Given the description of an element on the screen output the (x, y) to click on. 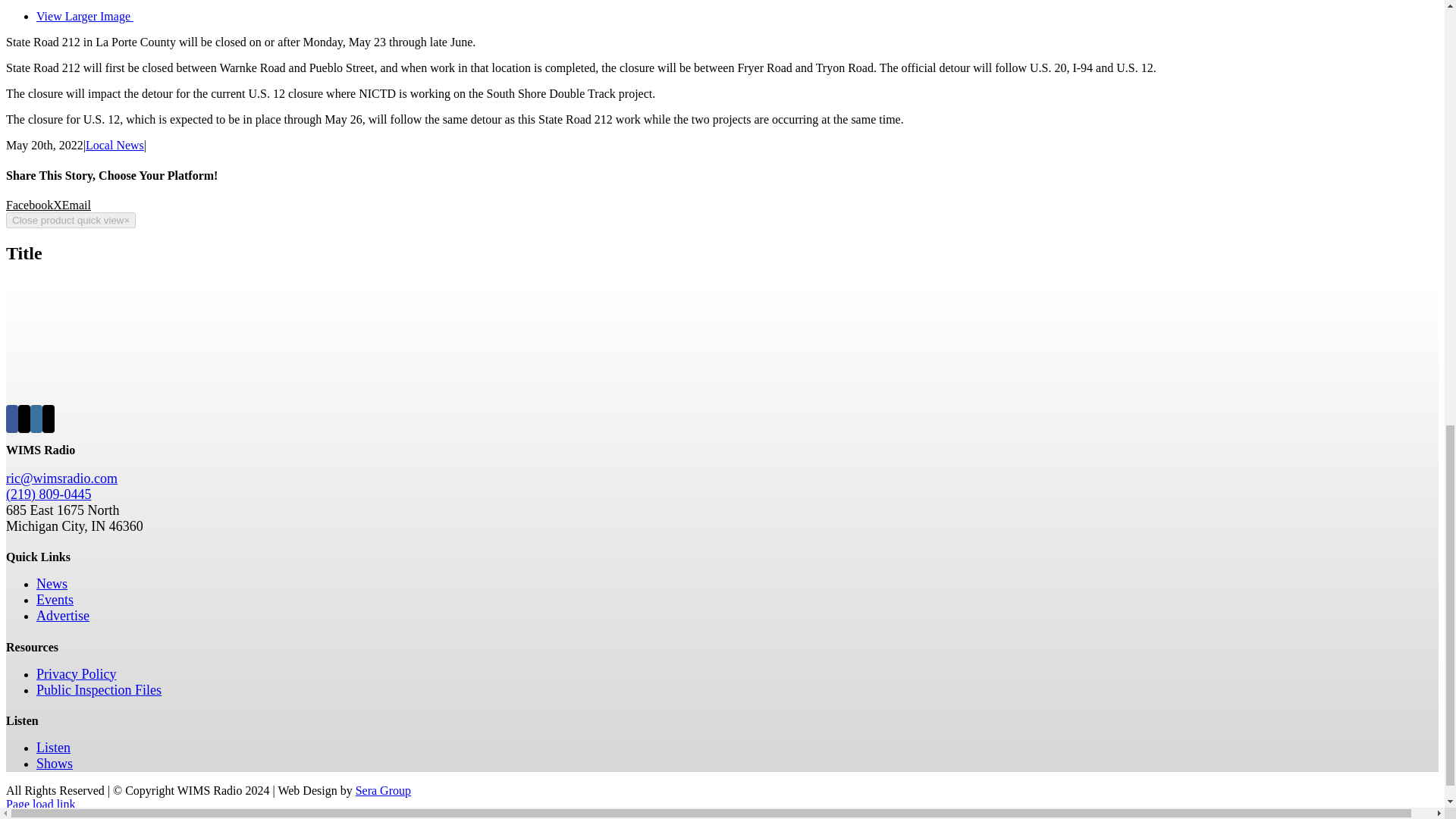
Facebook (28, 205)
Local News (114, 144)
Events (55, 599)
Email (76, 205)
News (51, 583)
Advertise (62, 615)
View Larger Image (312, 15)
Privacy Policy (76, 673)
Email (76, 205)
Facebook (28, 205)
